Given the description of an element on the screen output the (x, y) to click on. 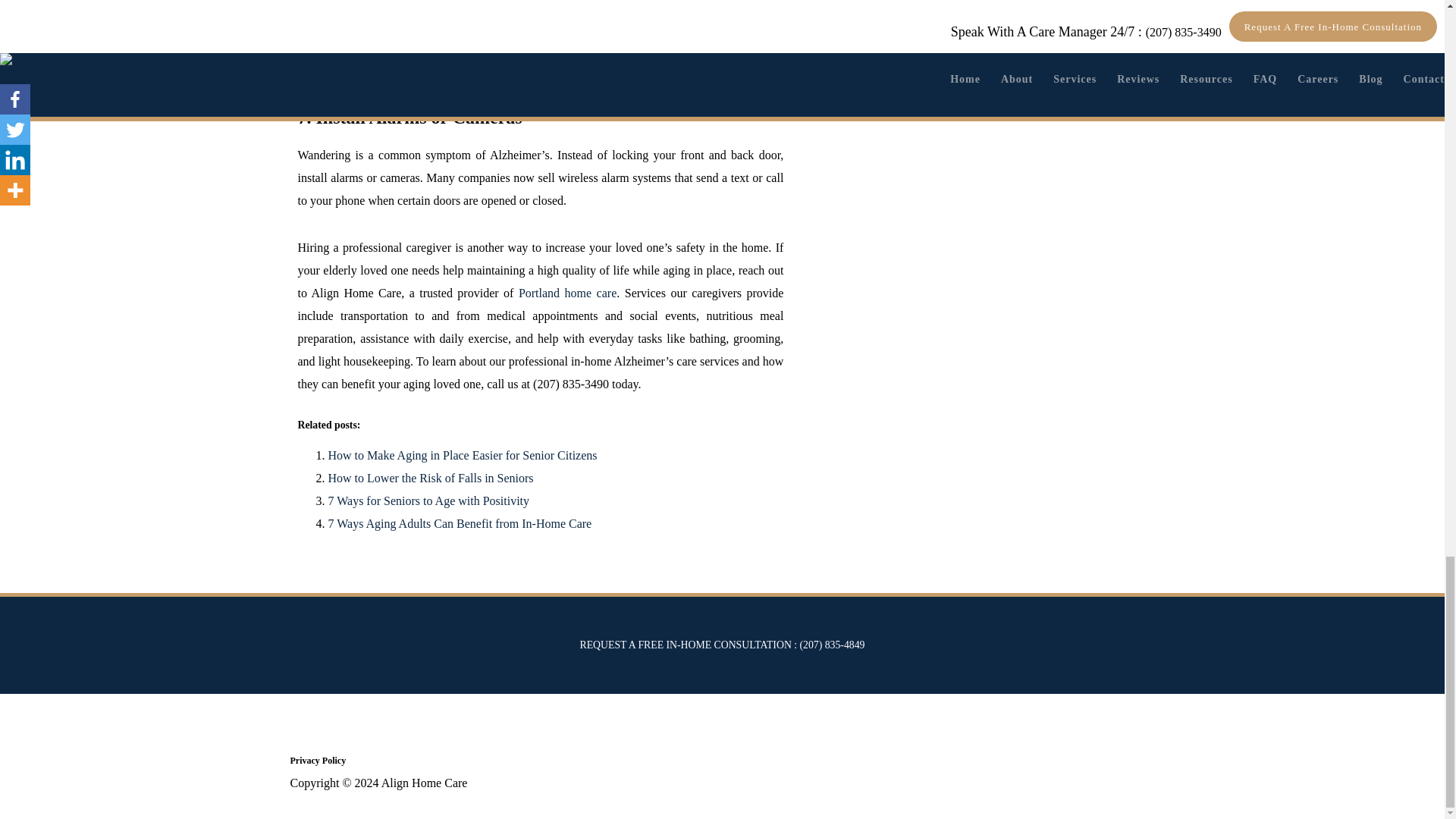
7 Ways for Seniors to Age with Positivity (428, 500)
How to Make Aging in Place Easier for Senior Citizens (461, 454)
How to Lower the Risk of Falls in Seniors (429, 477)
7 Ways Aging Adults Can Benefit from In-Home Care (459, 522)
Portland home care (566, 292)
How to Lower the Risk of Falls in Seniors (429, 477)
How to Make Aging in Place Easier for Senior Citizens (461, 454)
7 Ways for Seniors to Age with Positivity (428, 500)
7 Ways Aging Adults Can Benefit from In-Home Care (459, 522)
